Given the description of an element on the screen output the (x, y) to click on. 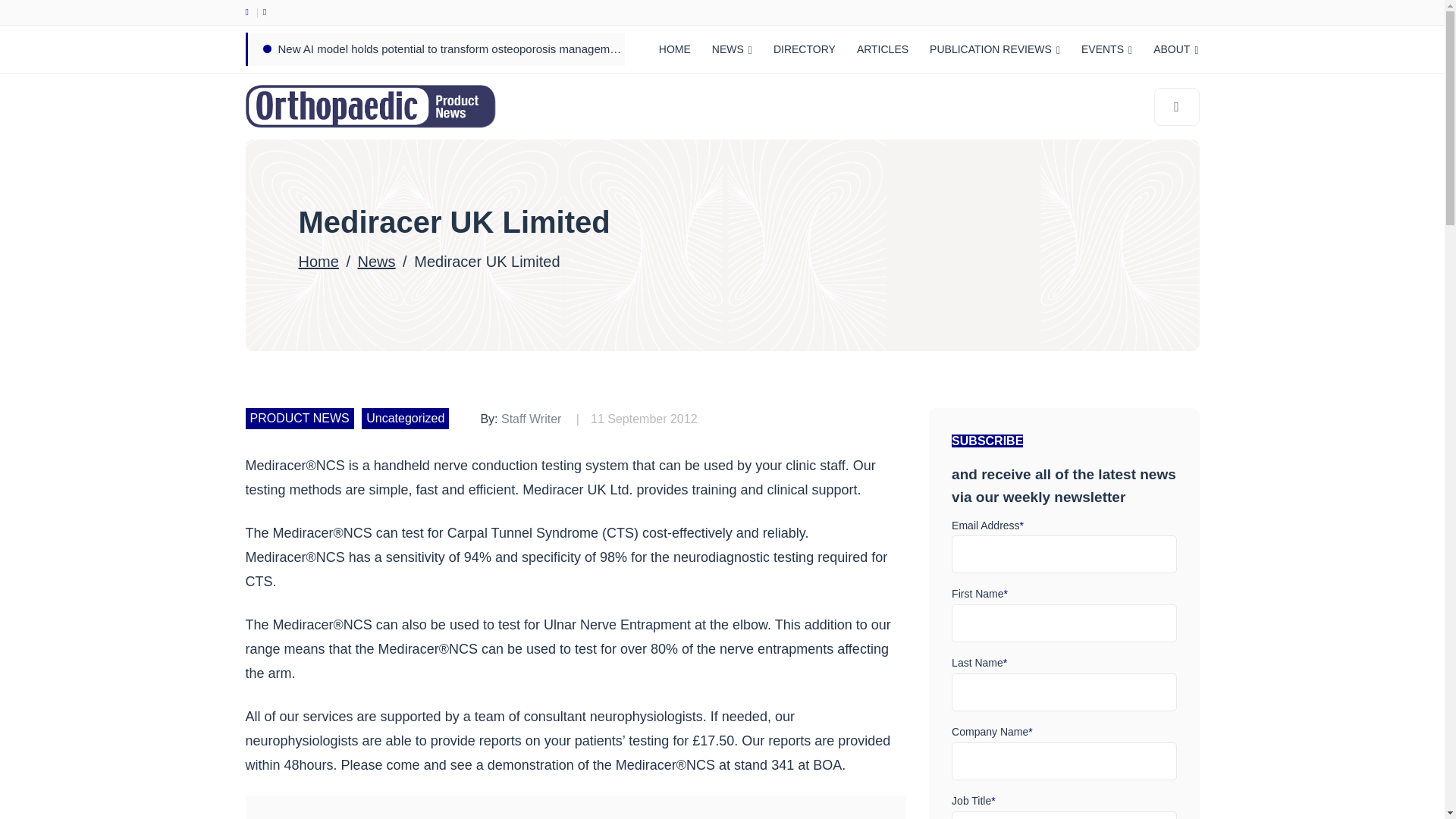
EVENTS (1106, 49)
Posts by Staff Writer (530, 418)
ARTICLES (881, 49)
HOME (674, 49)
ABOUT (1175, 49)
NEWS (731, 49)
PUBLICATION REVIEWS (994, 49)
DIRECTORY (803, 49)
